Given the description of an element on the screen output the (x, y) to click on. 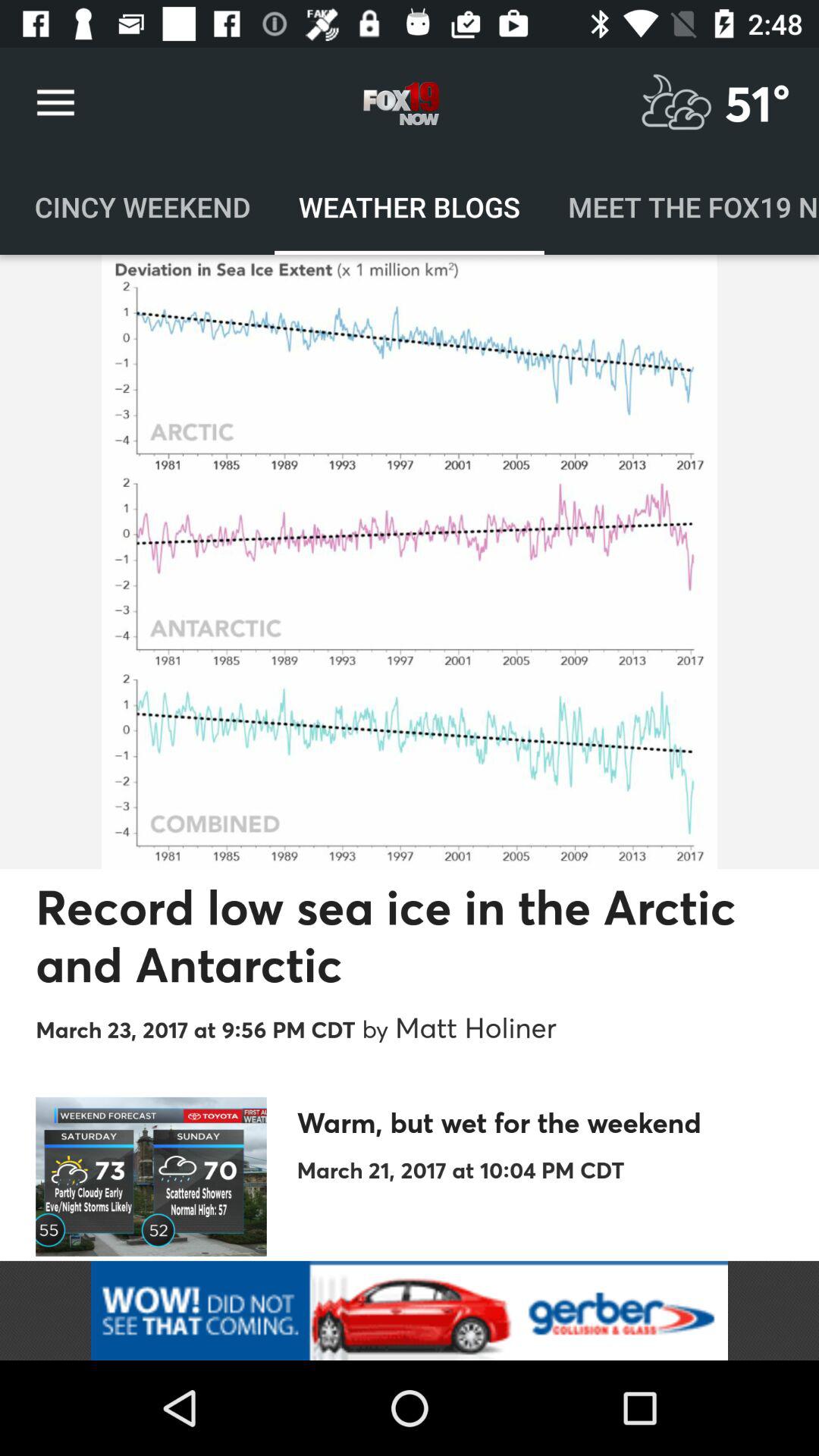
click to weather (676, 103)
